Given the description of an element on the screen output the (x, y) to click on. 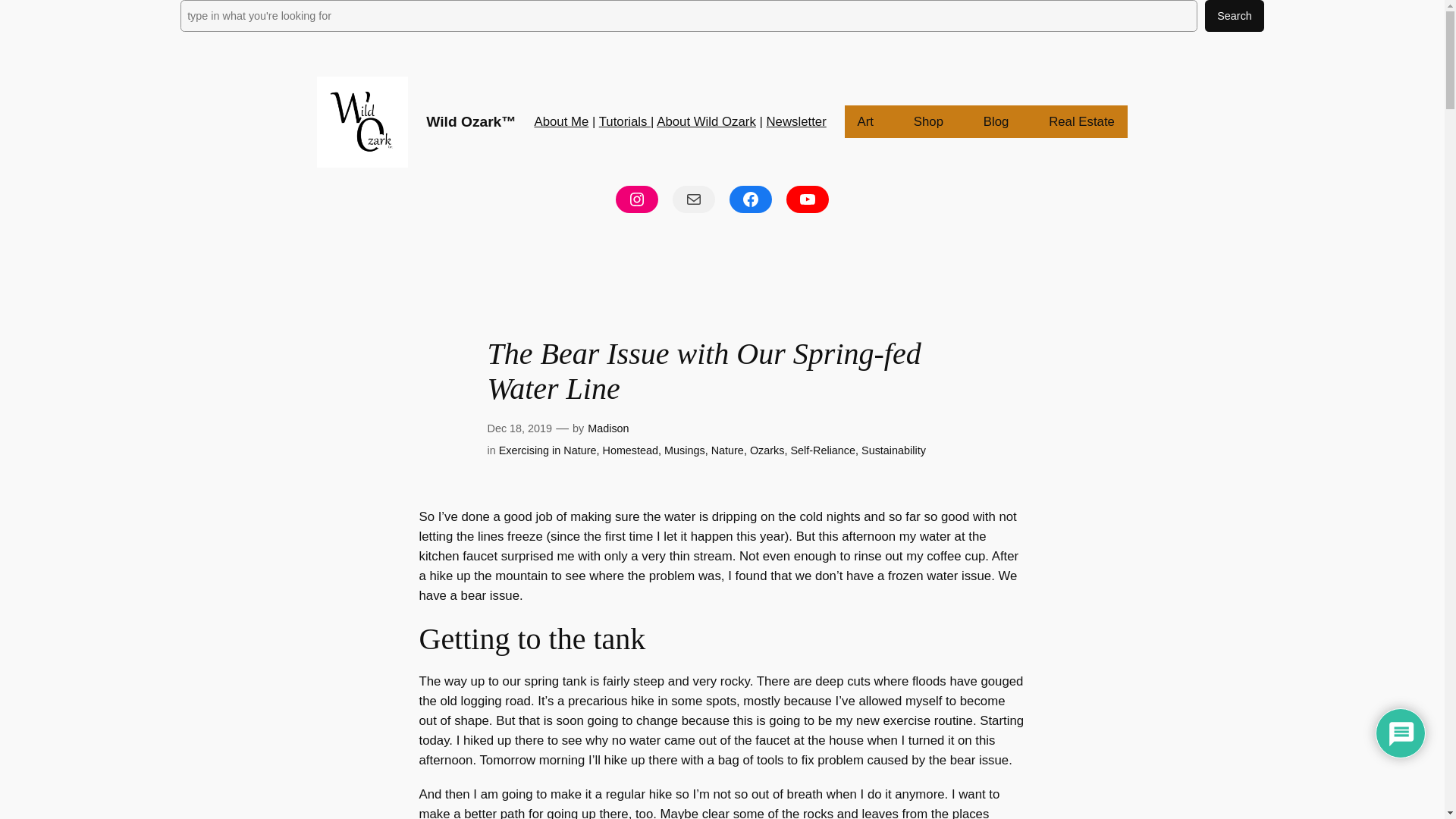
Exercising in Nature (547, 450)
Real Estate (1080, 121)
Mail (693, 198)
Ozarks (766, 450)
Facebook (750, 198)
Art (865, 121)
Blog (996, 121)
Tutorials (624, 121)
About Me (561, 121)
Newsletter (795, 121)
